Given the description of an element on the screen output the (x, y) to click on. 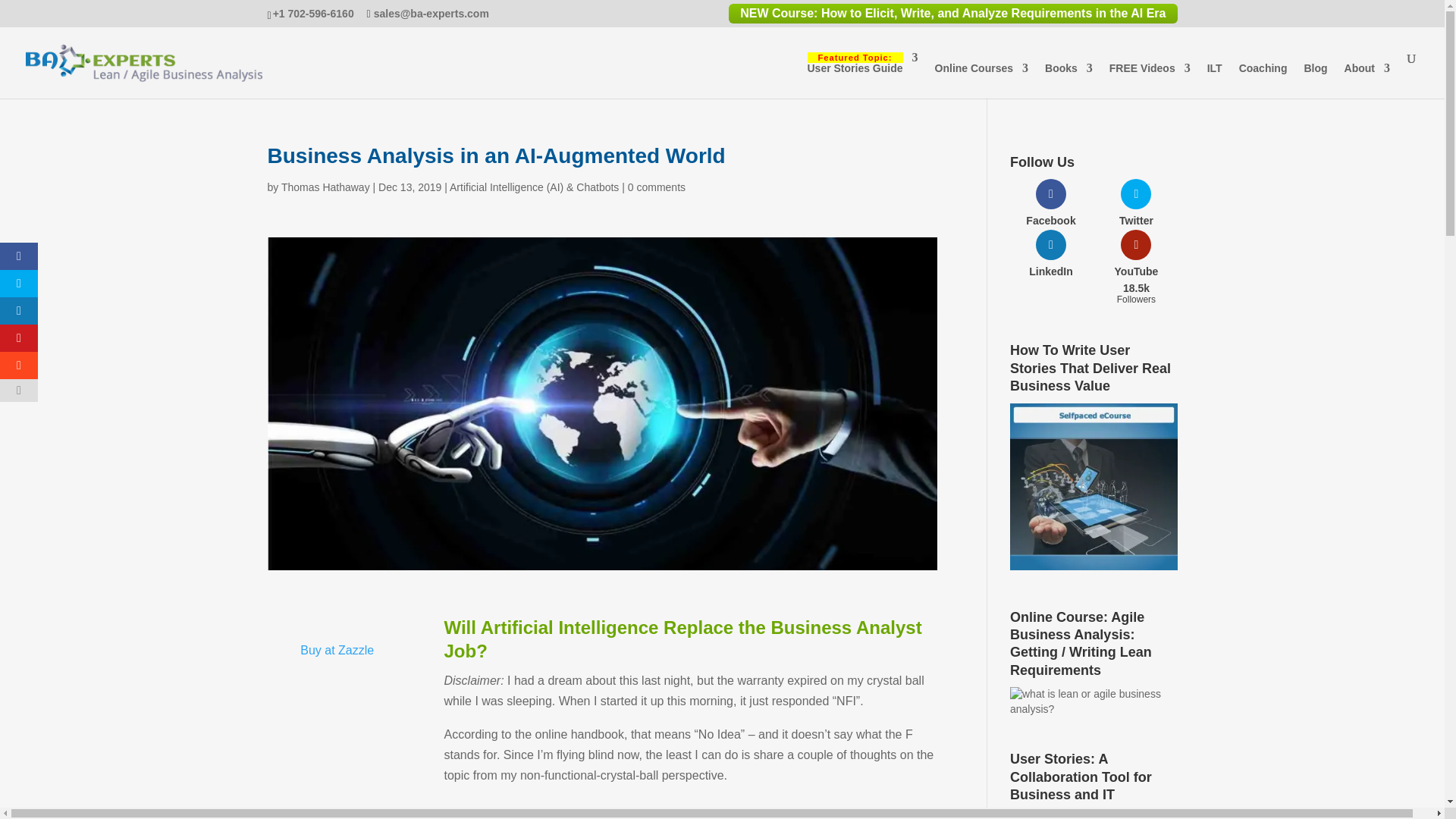
Books (1069, 80)
Posts by Thomas Hathaway (861, 75)
Online Courses (325, 186)
